Given the description of an element on the screen output the (x, y) to click on. 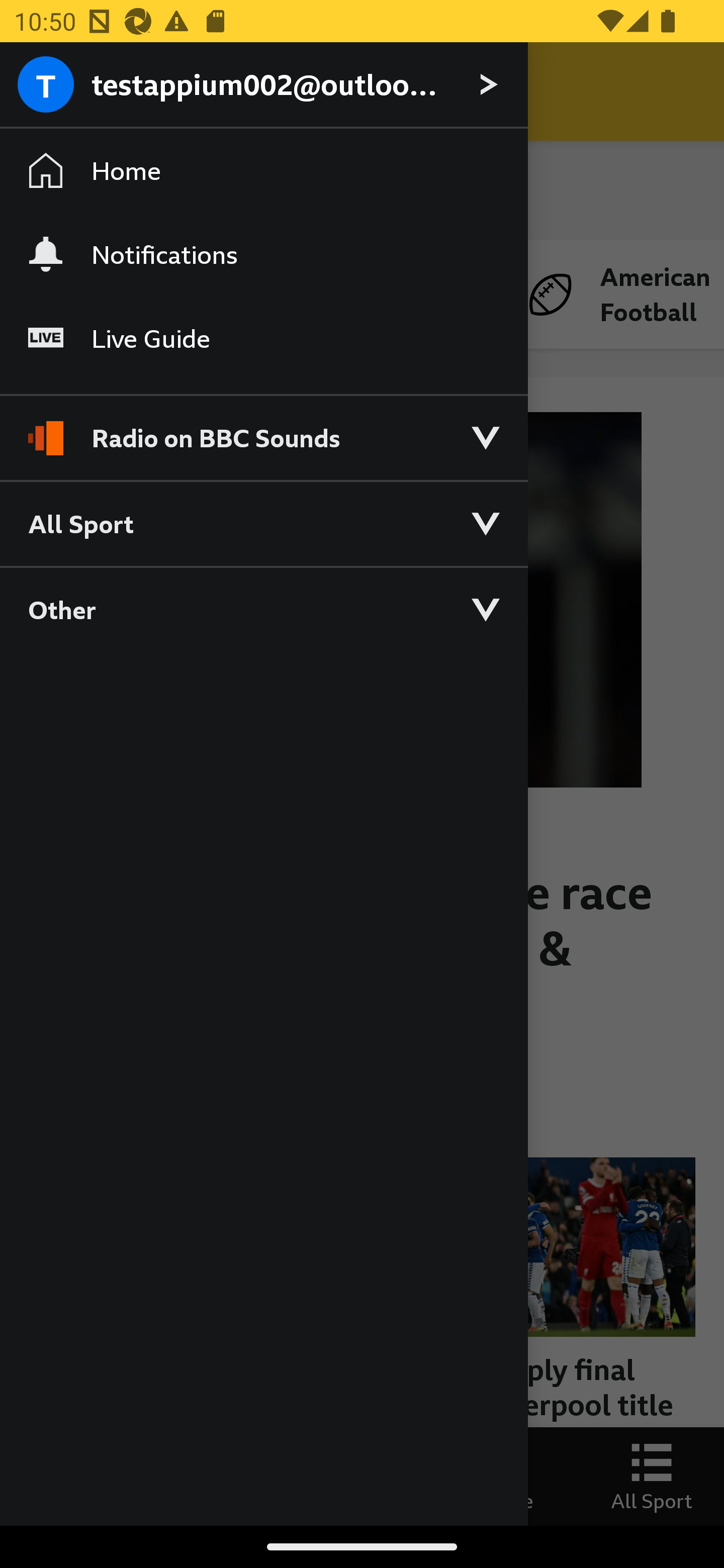
testappium002@outlook.com (263, 85)
Home (263, 170)
Notifications (263, 253)
Live Guide (263, 338)
Radio on BBC Sounds (263, 429)
All Sport (263, 522)
Other (263, 609)
